Given the description of an element on the screen output the (x, y) to click on. 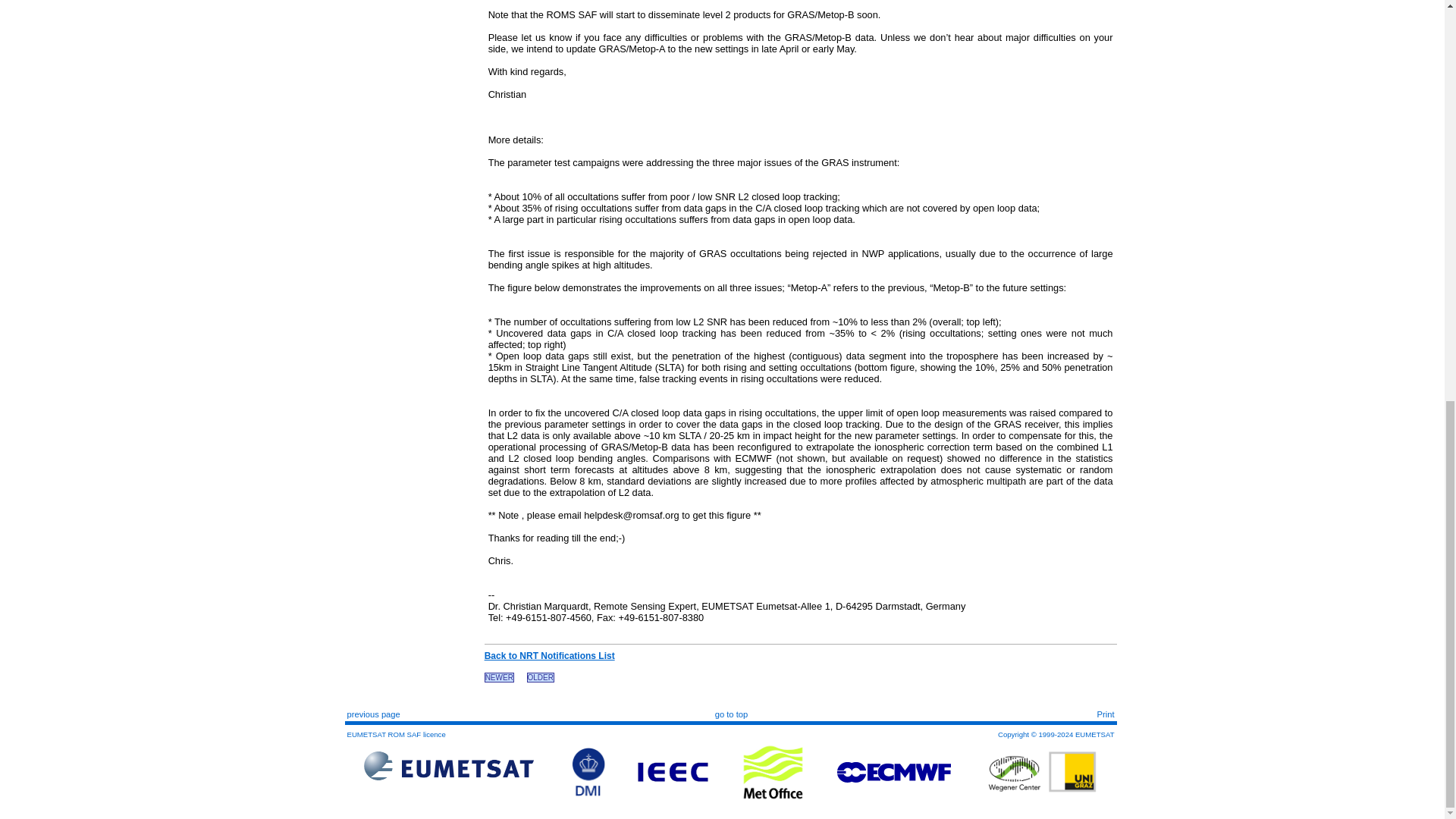
EUMETSAT ROM SAF licence (396, 734)
go to top (731, 714)
Print (1104, 714)
OLDER (540, 677)
NEWER (498, 677)
previous page (373, 714)
Back to NRT Notifications List (549, 655)
